Given the description of an element on the screen output the (x, y) to click on. 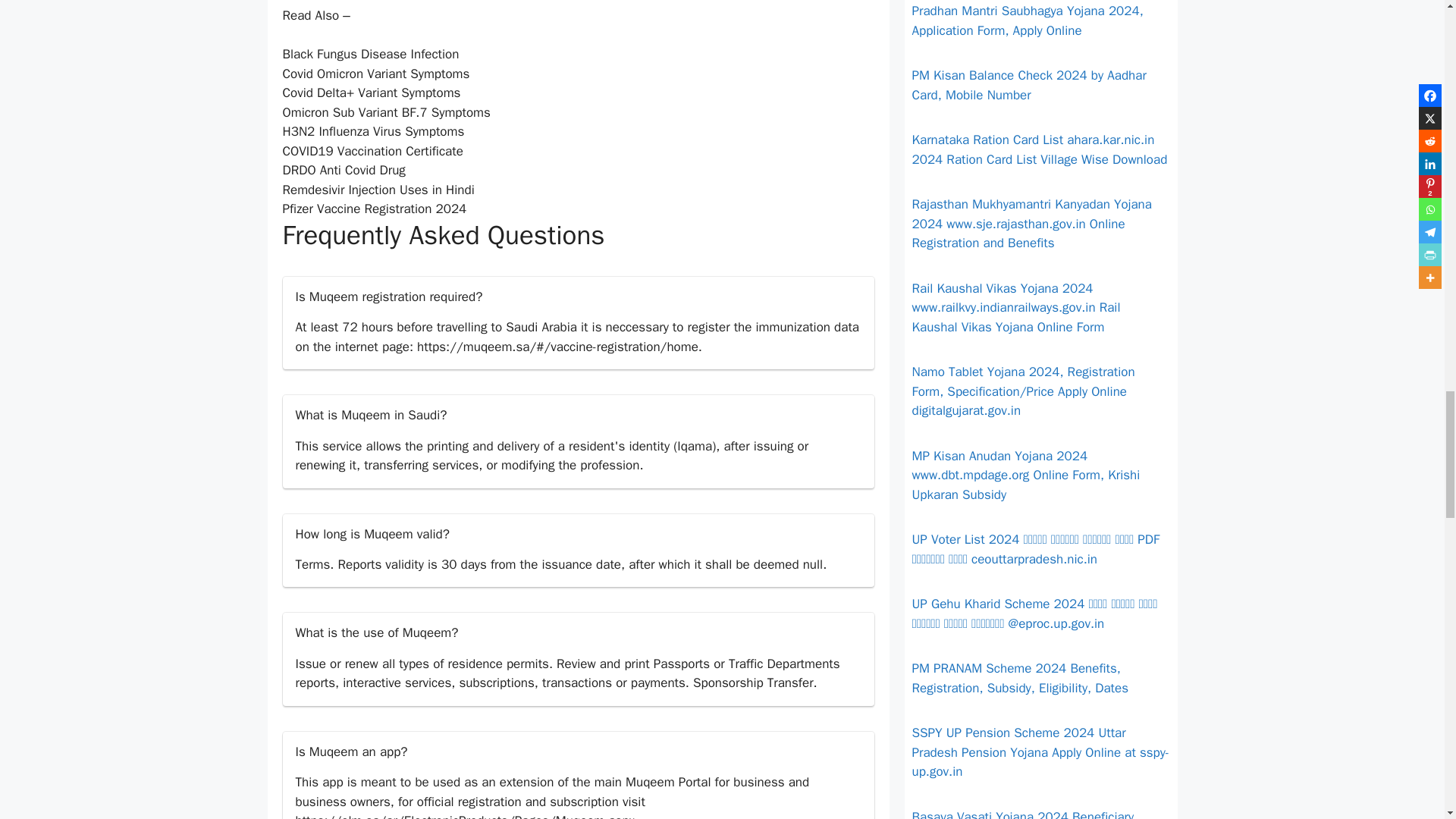
Covid Omicron Variant Symptoms (375, 73)
Pfizer Vaccine Registration 2024 (373, 208)
Remdesivir Injection Uses in Hindi (378, 189)
Black Fungus Disease Infection (370, 53)
DRDO Anti Covid Drug (343, 170)
H3N2 Influenza Virus Symptoms (373, 131)
COVID19 Vaccination Certificate (372, 150)
Omicron Sub Variant BF.7 Symptoms (385, 112)
